Given the description of an element on the screen output the (x, y) to click on. 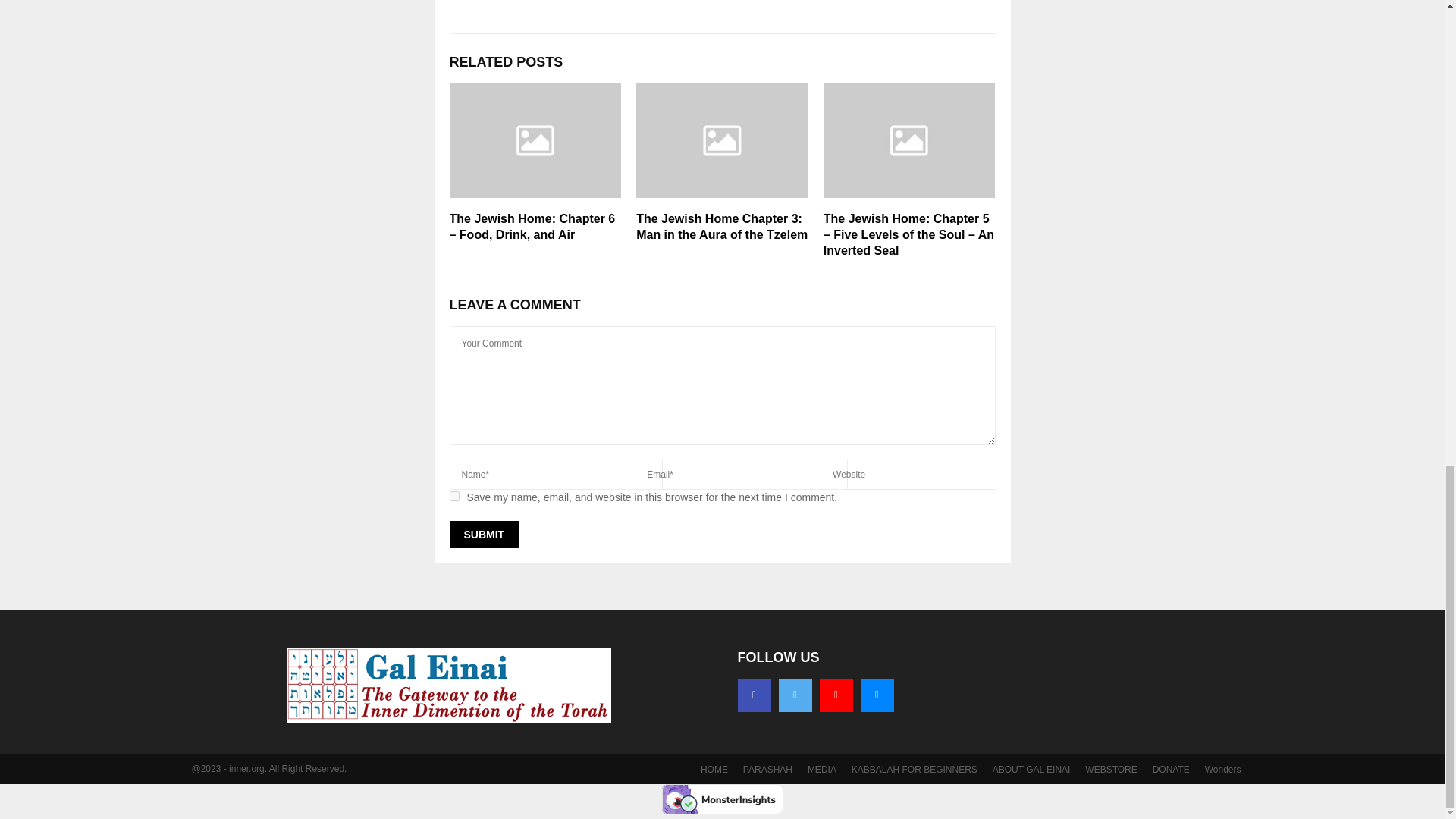
Submit (483, 533)
yes (453, 496)
